Given the description of an element on the screen output the (x, y) to click on. 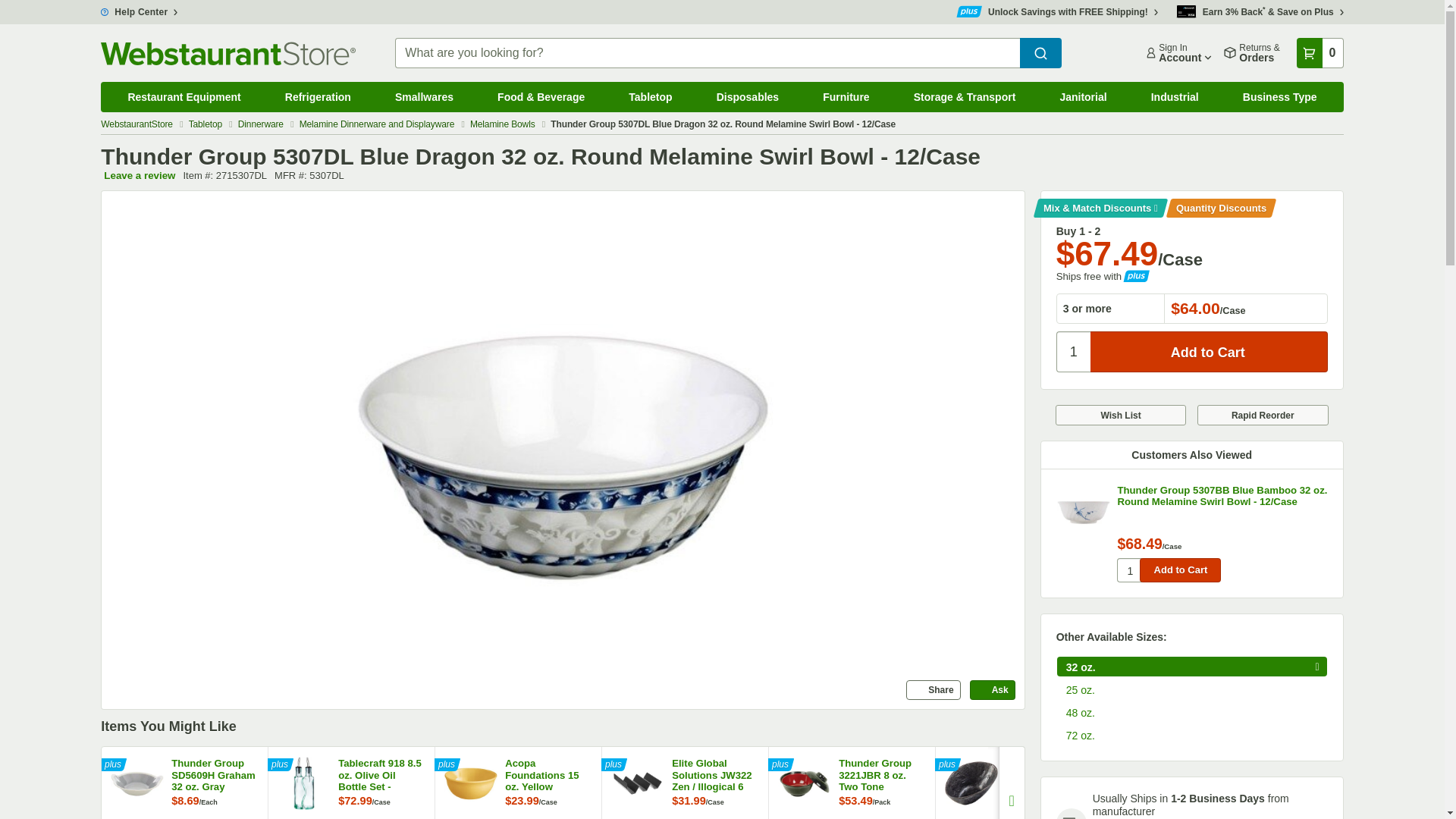
1 (1128, 569)
Tabletop (207, 123)
Smallwares (424, 96)
show submenu for Disposables (806, 87)
0 (1320, 52)
show submenu for Furniture (897, 87)
show submenu for Refrigeration (378, 87)
Help Center (138, 11)
show submenu for Business Type (1345, 87)
Restaurant Equipment (183, 96)
Unlock Savings with FREE Shipping! (1056, 11)
Dinnerware (261, 123)
Business Type (1280, 96)
Tabletop (650, 96)
